Given the description of an element on the screen output the (x, y) to click on. 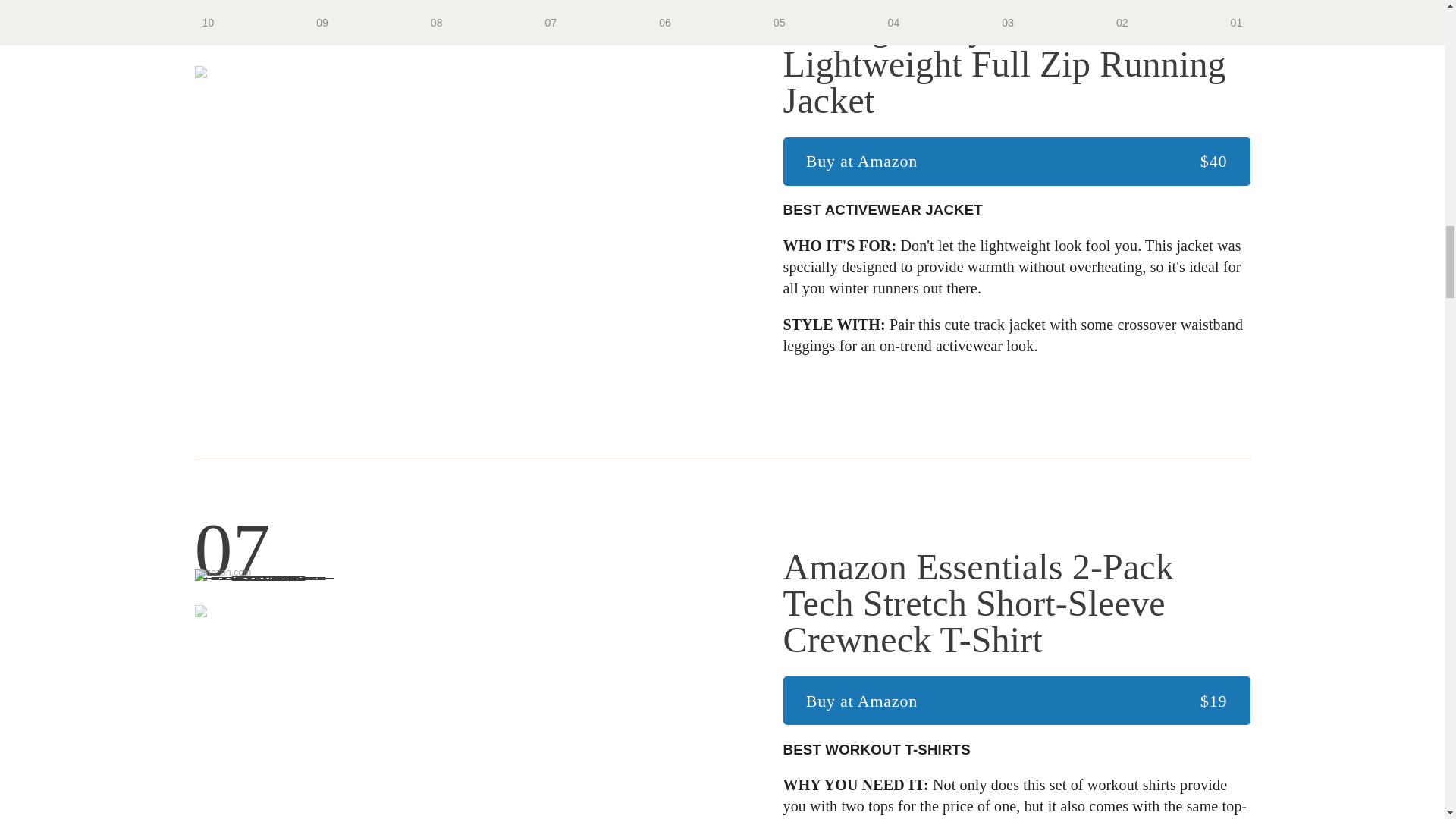
crossover waistband leggings (1013, 334)
90 Degree By Reflex Lightweight Full Zip Running Jacket (1016, 63)
